Given the description of an element on the screen output the (x, y) to click on. 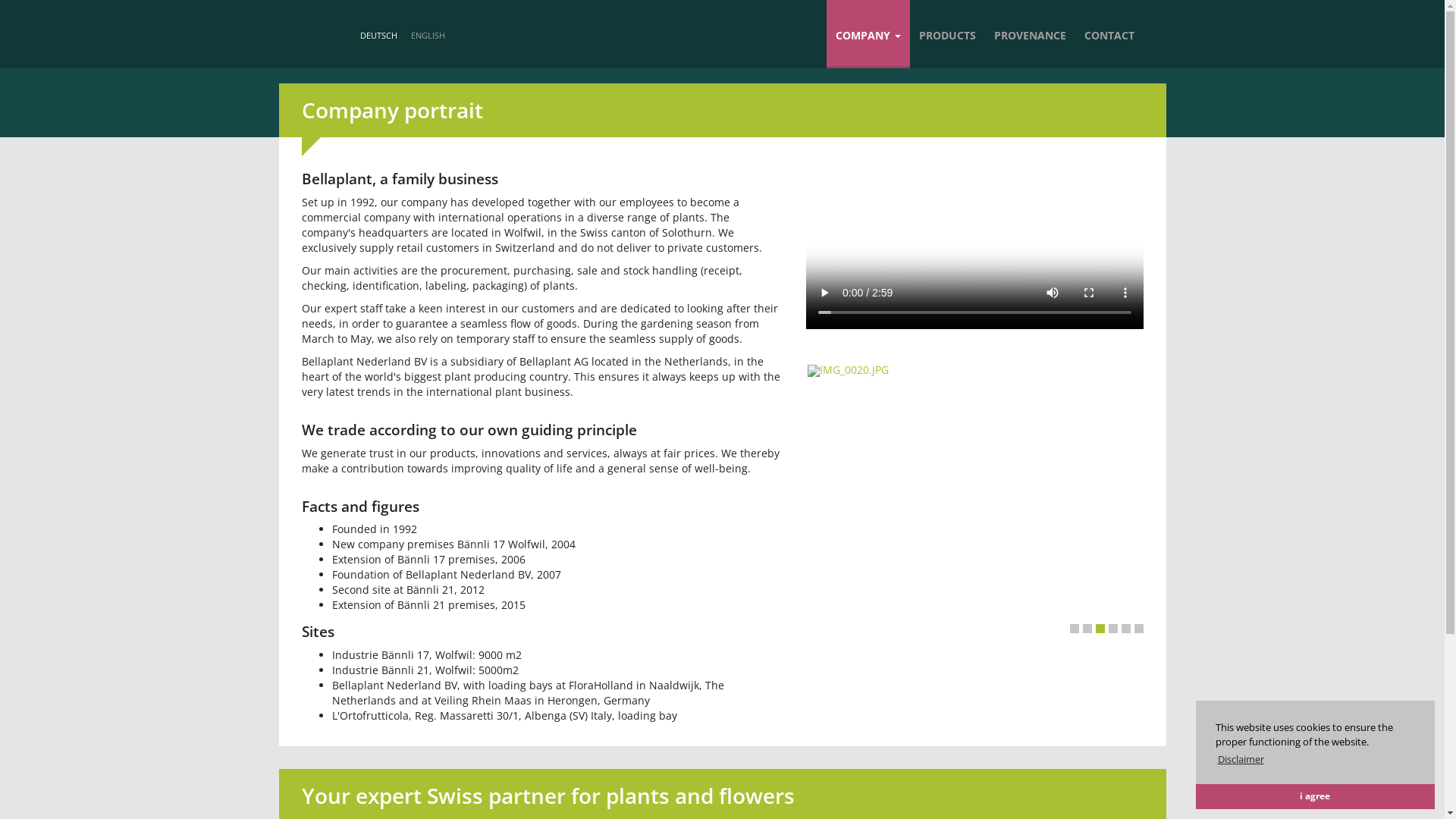
i agree Element type: text (1314, 796)
ENGLISH Element type: text (426, 34)
CONTACT Element type: text (1109, 34)
PROVENANCE Element type: text (1029, 34)
Bellaplant AG Element type: text (282, 46)
DEUTSCH Element type: text (378, 34)
Disclaimer Element type: text (1240, 758)
COMPANY Element type: text (868, 34)
PRODUCTS Element type: text (947, 34)
